Given the description of an element on the screen output the (x, y) to click on. 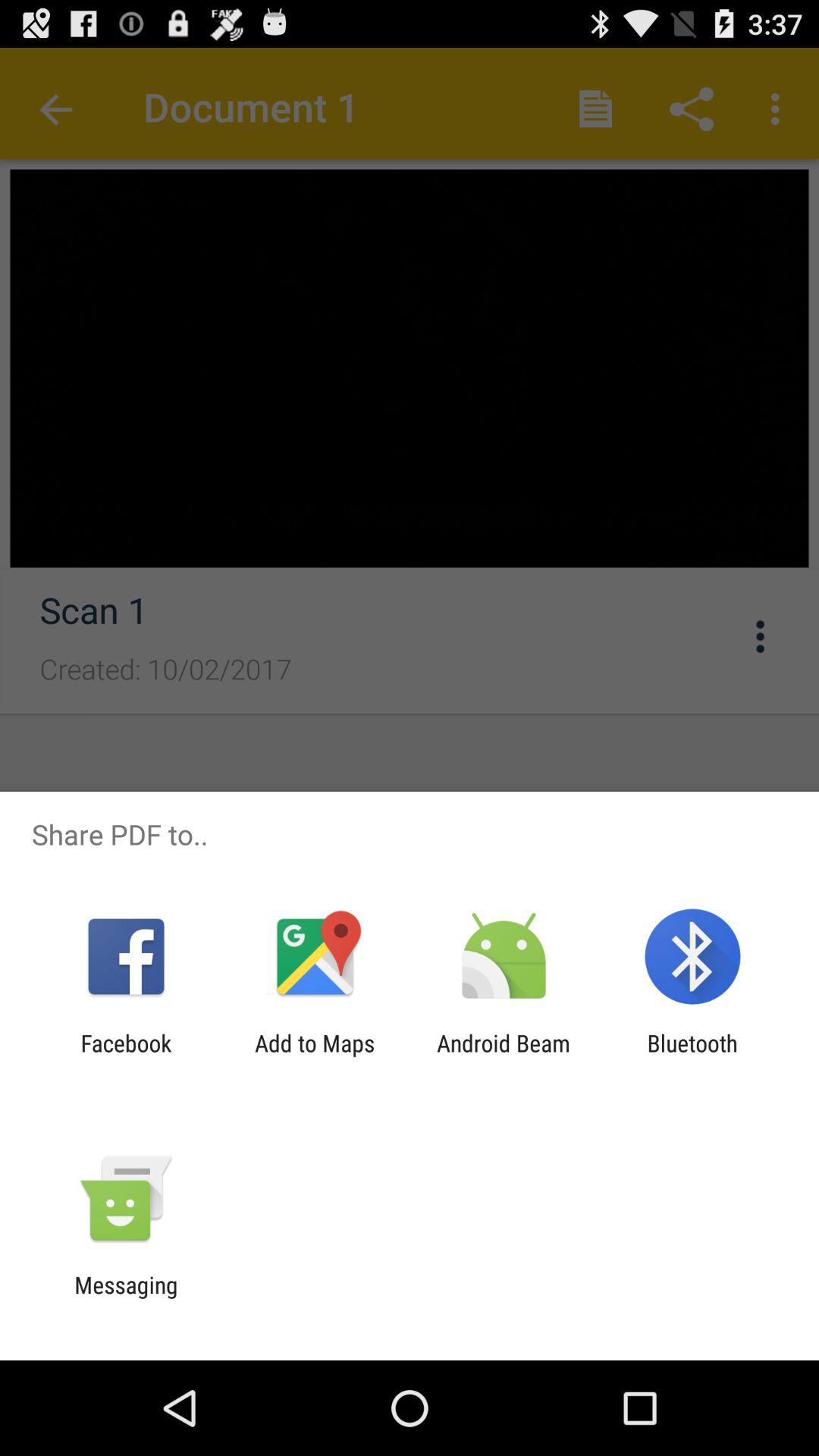
turn off the android beam icon (503, 1056)
